Given the description of an element on the screen output the (x, y) to click on. 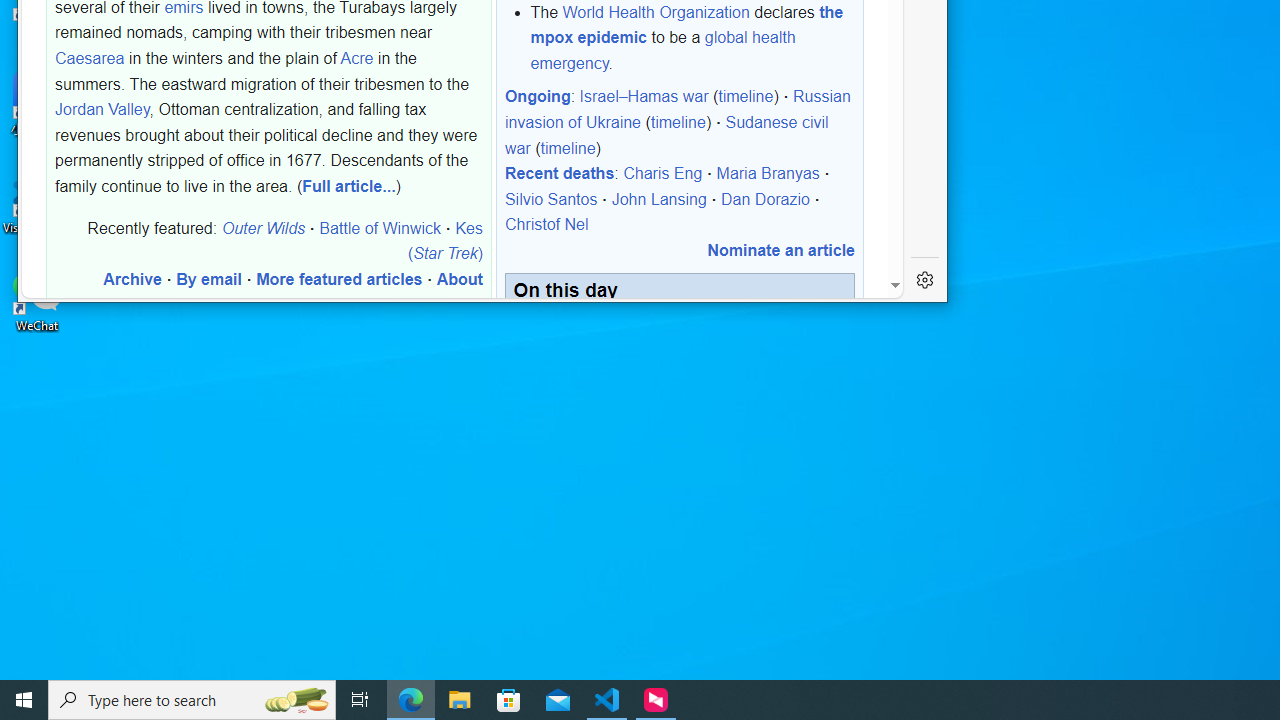
timeline (568, 147)
Kes (Star Trek) (444, 240)
Christof Nel (546, 225)
Christof Nel (546, 225)
Nominate an article (780, 250)
Outer Wilds (263, 227)
